Given the description of an element on the screen output the (x, y) to click on. 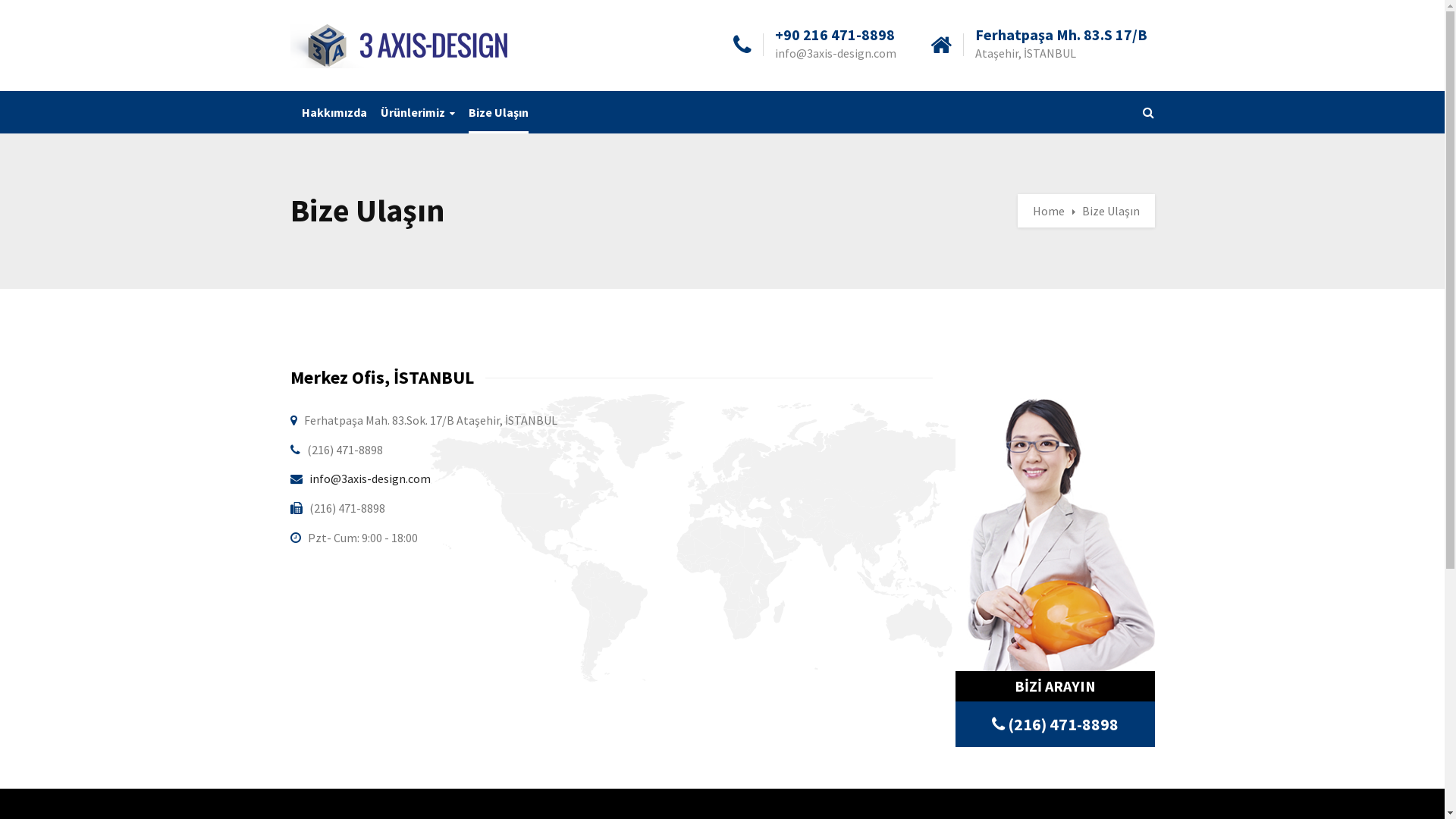
Home Element type: text (1053, 210)
info@3axis-design.com Element type: text (369, 478)
